Given the description of an element on the screen output the (x, y) to click on. 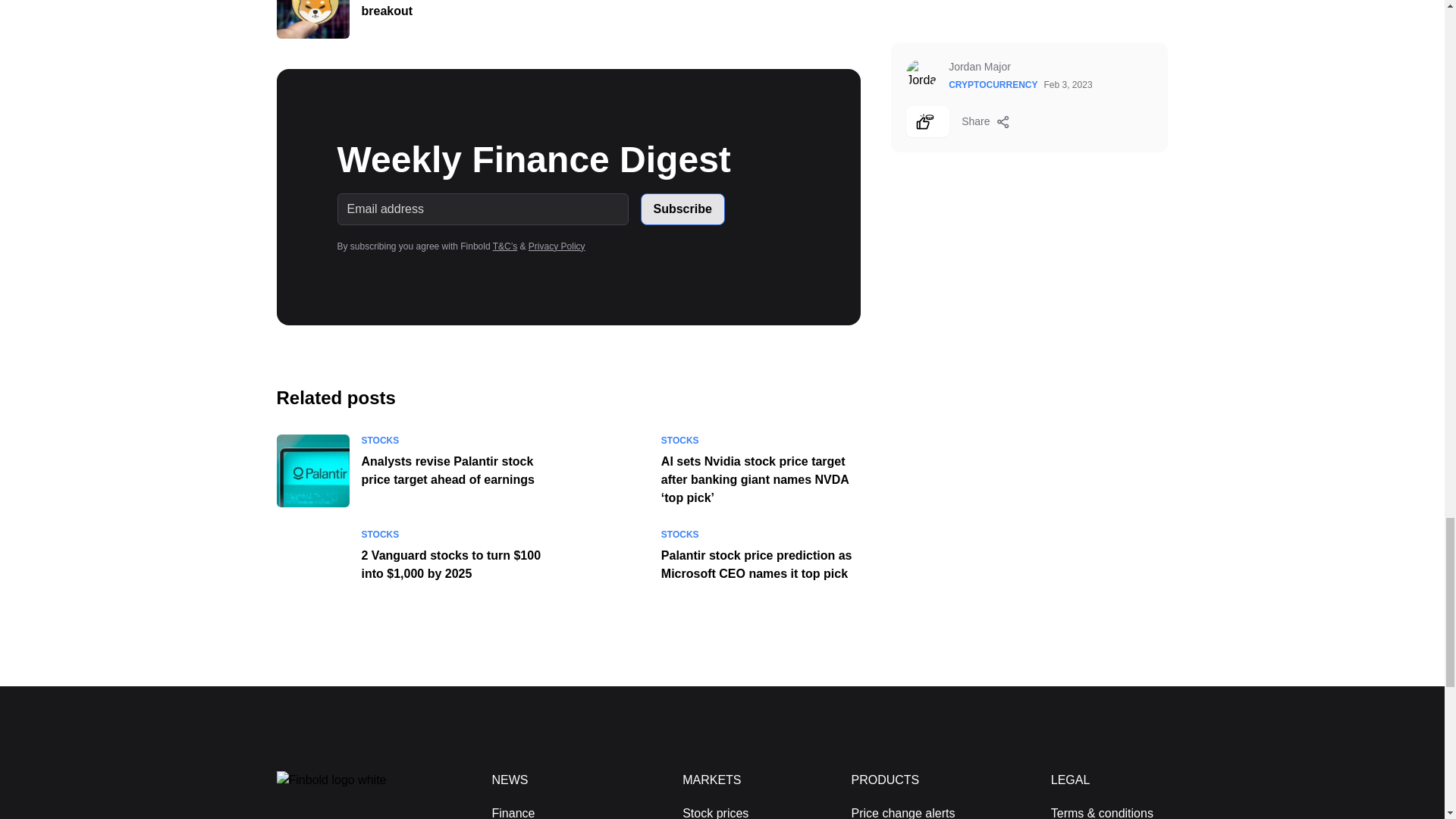
SHIB price analysis: Shiba Inu nears bull pennant breakout (312, 19)
SHIB price analysis: Shiba Inu nears bull pennant breakout (503, 8)
